Given the description of an element on the screen output the (x, y) to click on. 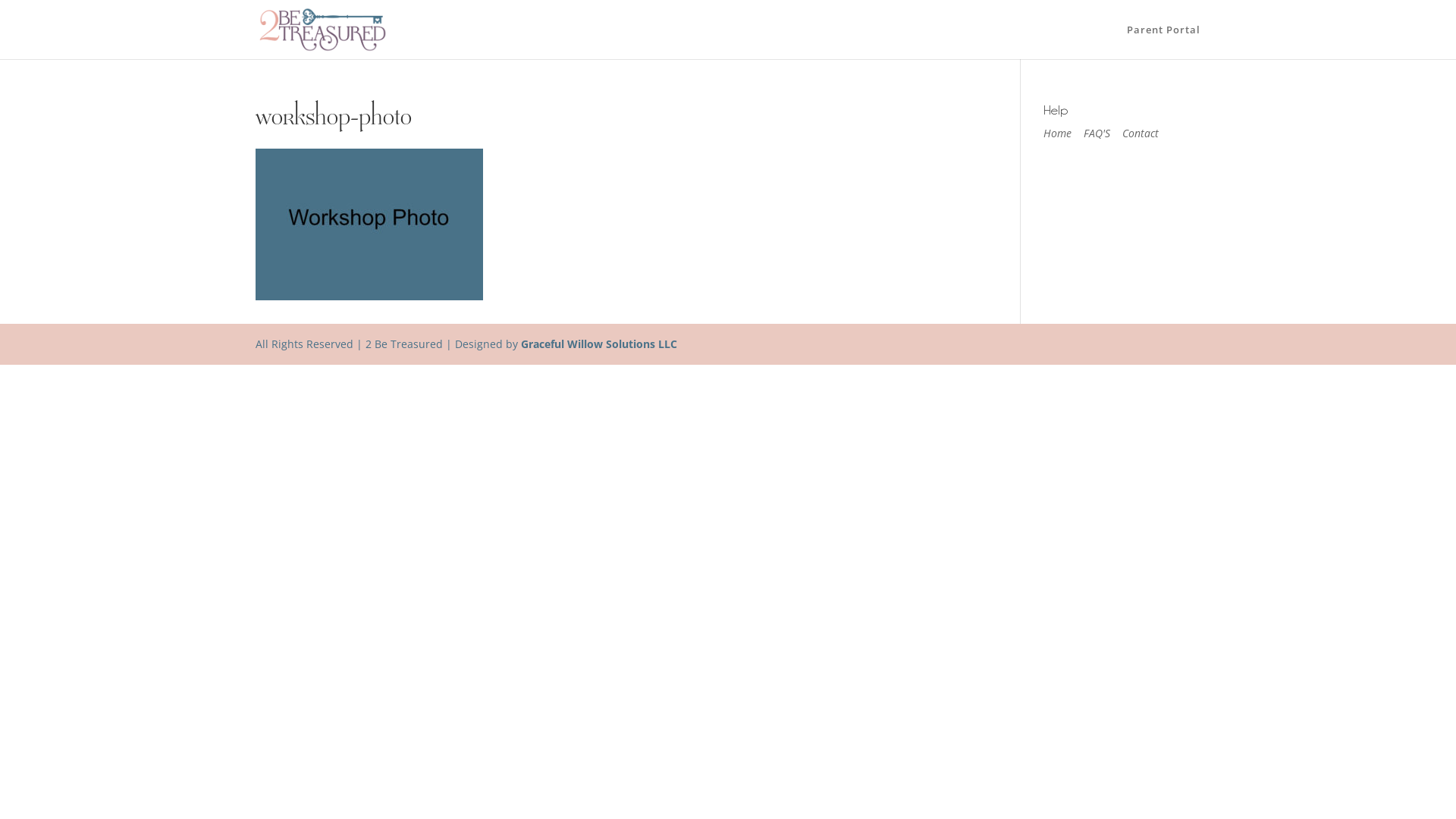
Graceful Willow Solutions LLC Element type: text (598, 343)
Home Element type: text (1057, 132)
Contact Element type: text (1140, 132)
Parent Portal Element type: text (1163, 41)
FAQ'S Element type: text (1096, 132)
